Given the description of an element on the screen output the (x, y) to click on. 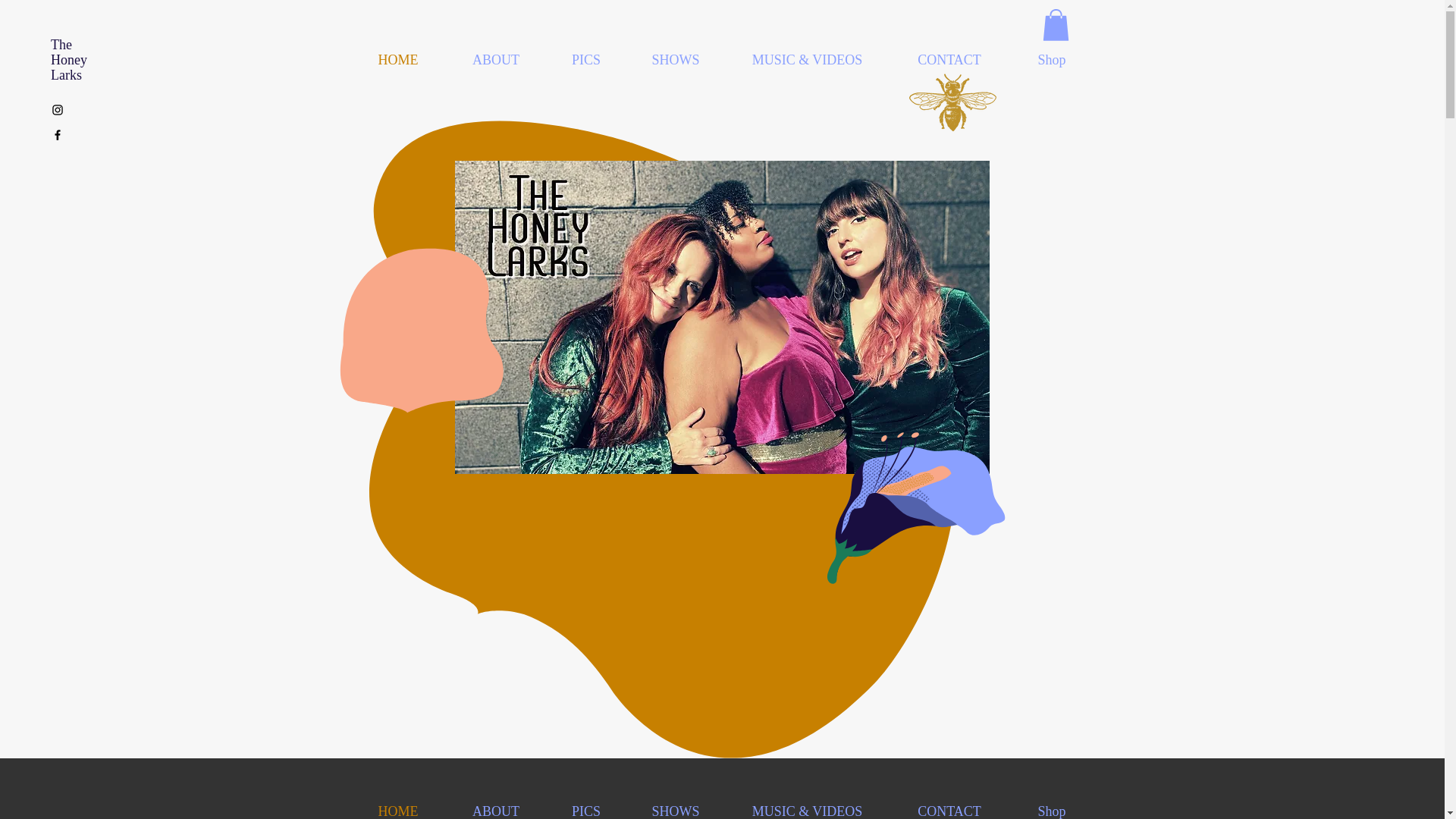
The (60, 44)
CONTACT (948, 805)
HOME (397, 805)
SHOWS (675, 805)
Shop (1052, 805)
ABOUT (496, 805)
PICS (586, 805)
